Given the description of an element on the screen output the (x, y) to click on. 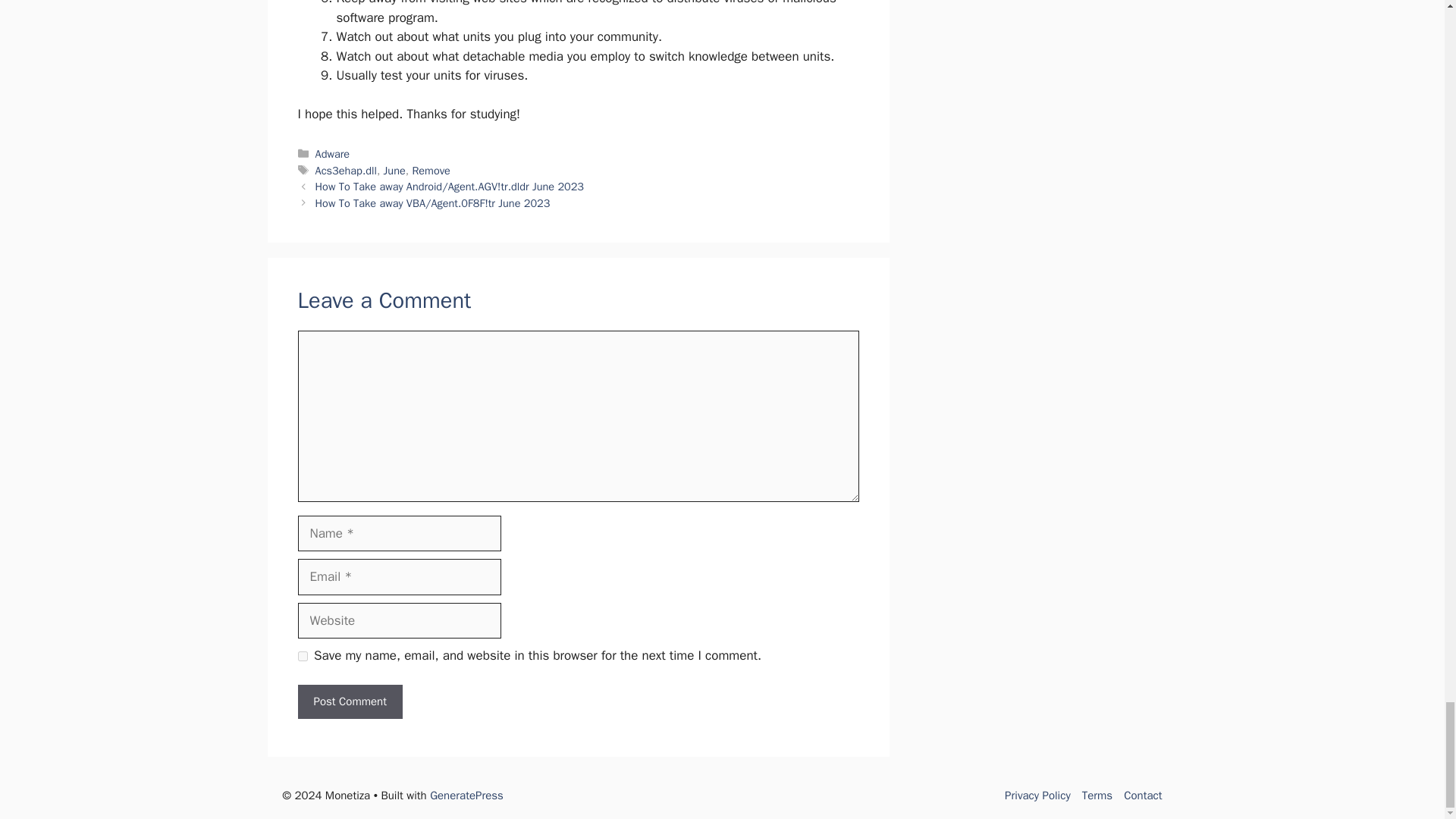
Post Comment (349, 701)
Post Comment (349, 701)
Terms (1096, 795)
Acs3ehap.dll (346, 170)
yes (302, 655)
Remove (430, 170)
Contact (1142, 795)
Privacy Policy (1037, 795)
Adware (332, 153)
June (395, 170)
GeneratePress (466, 795)
